Given the description of an element on the screen output the (x, y) to click on. 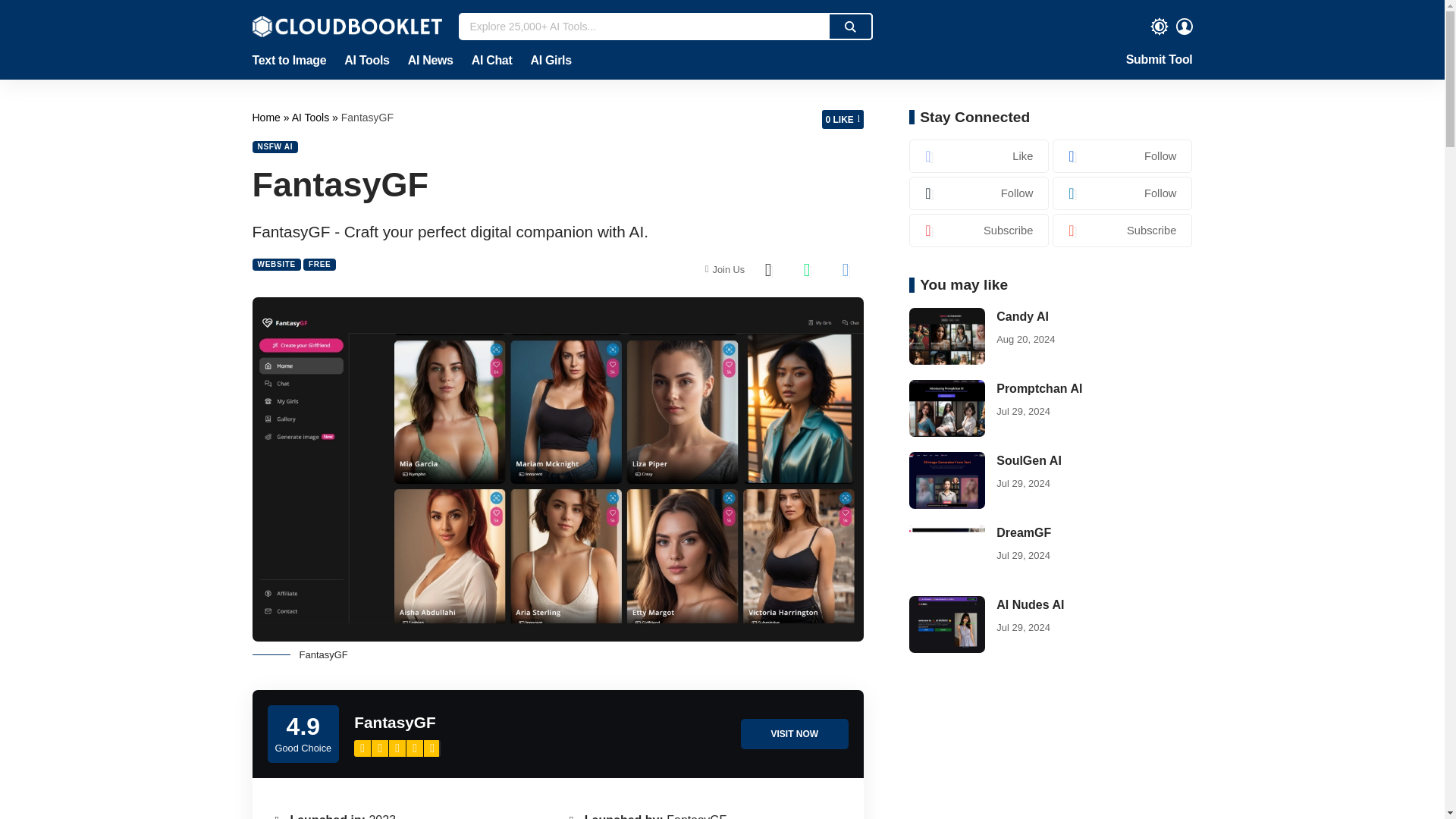
AI Tools (311, 117)
AI Tools (311, 117)
Submit Tool (1158, 60)
0 LIKE (843, 118)
AI Chat (492, 60)
Cloudbooklet AI (266, 117)
NSFW AI (274, 146)
Text to Image (292, 60)
Home (266, 117)
AI Tools (365, 60)
